Given the description of an element on the screen output the (x, y) to click on. 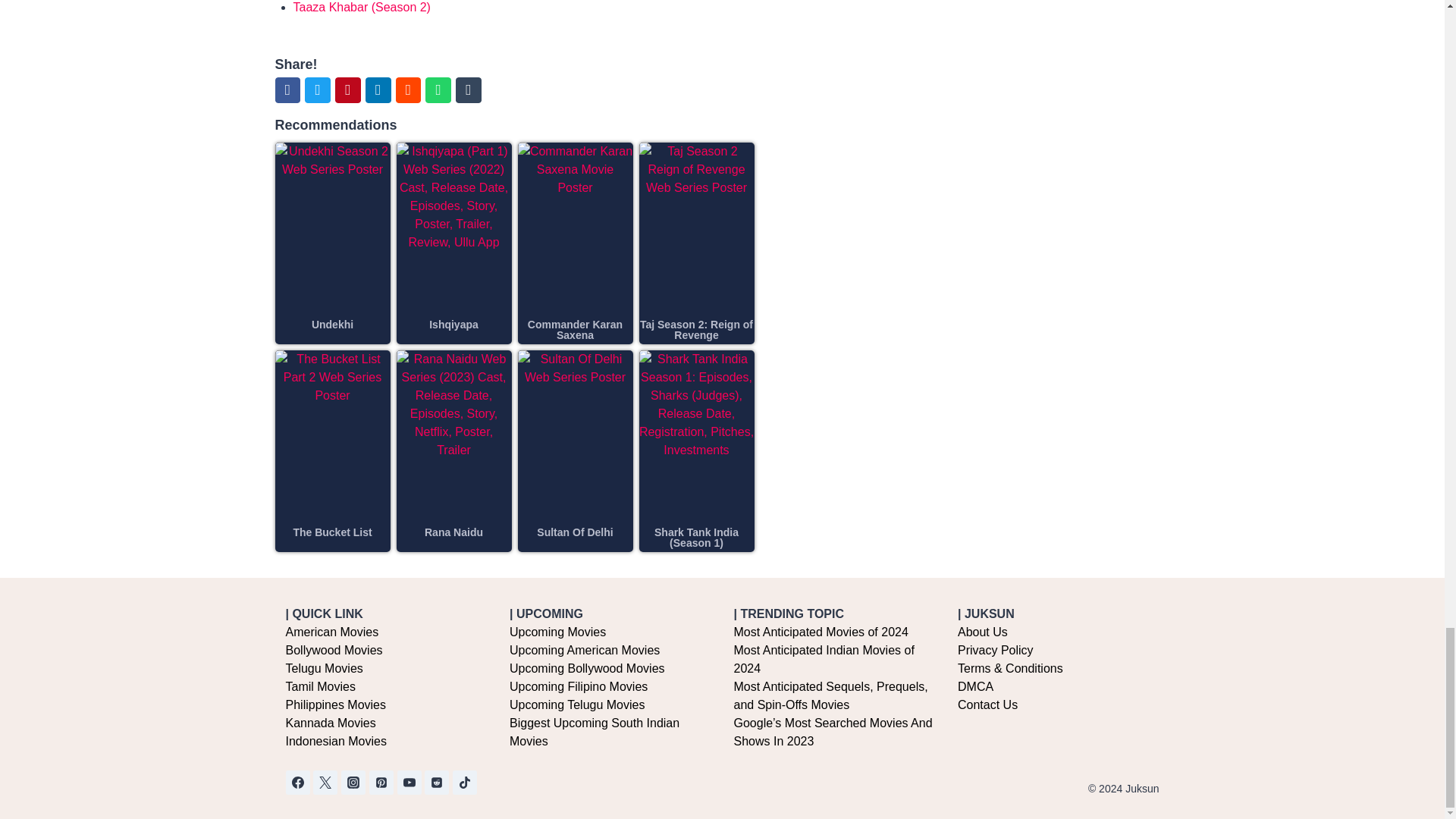
Ishqiyapa (454, 324)
The Bucket List (331, 532)
Commander Karan Saxena (575, 329)
Sultan Of Delhi (574, 532)
Taj Season 2: Reign of Revenge (696, 329)
Rana Naidu (454, 532)
Undekhi (332, 324)
